Given the description of an element on the screen output the (x, y) to click on. 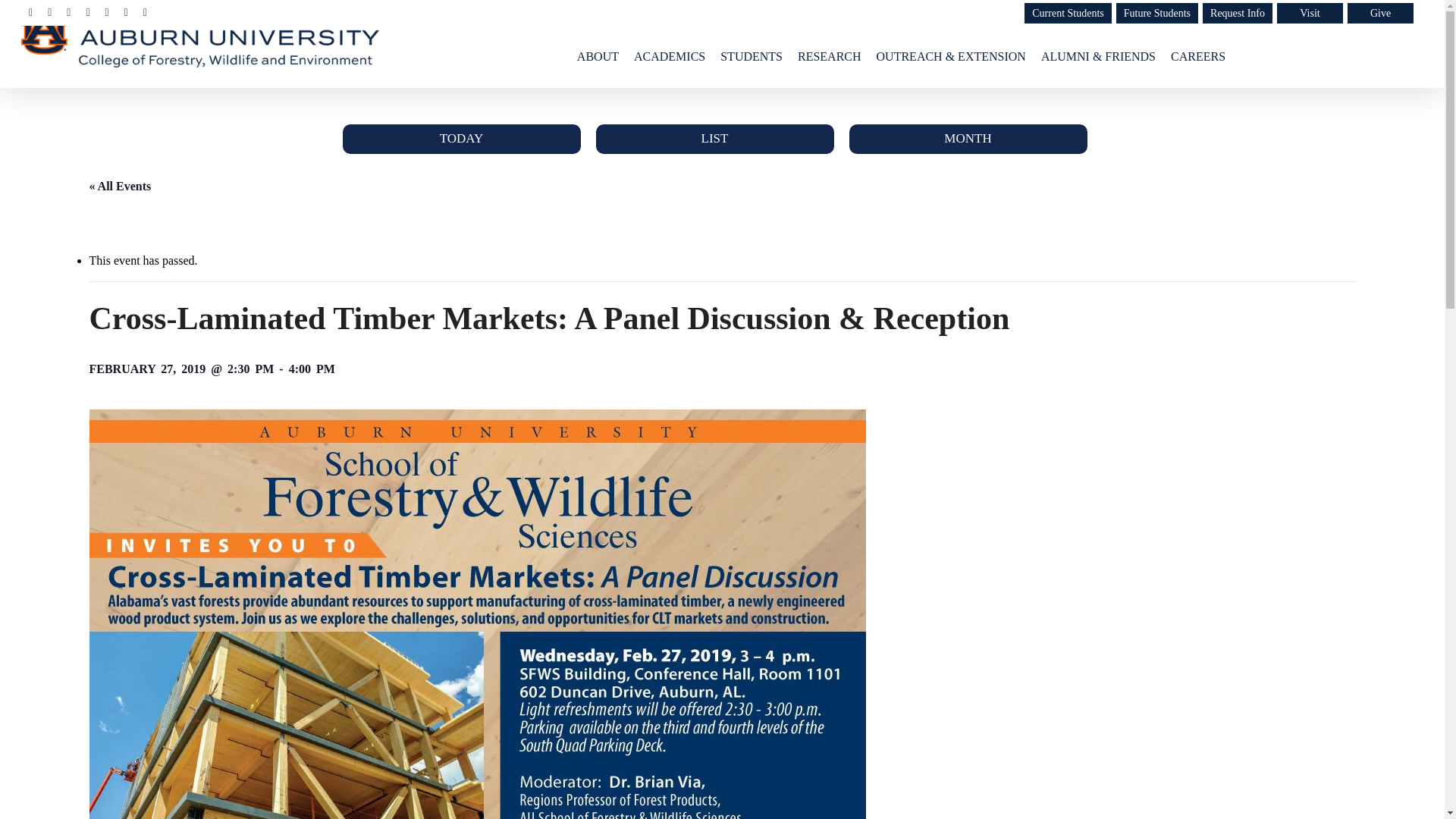
Visit (1309, 13)
ABOUT (597, 56)
Request Info (1237, 13)
Give (1380, 13)
Current Students (1068, 13)
Future Students (1157, 13)
